Given the description of an element on the screen output the (x, y) to click on. 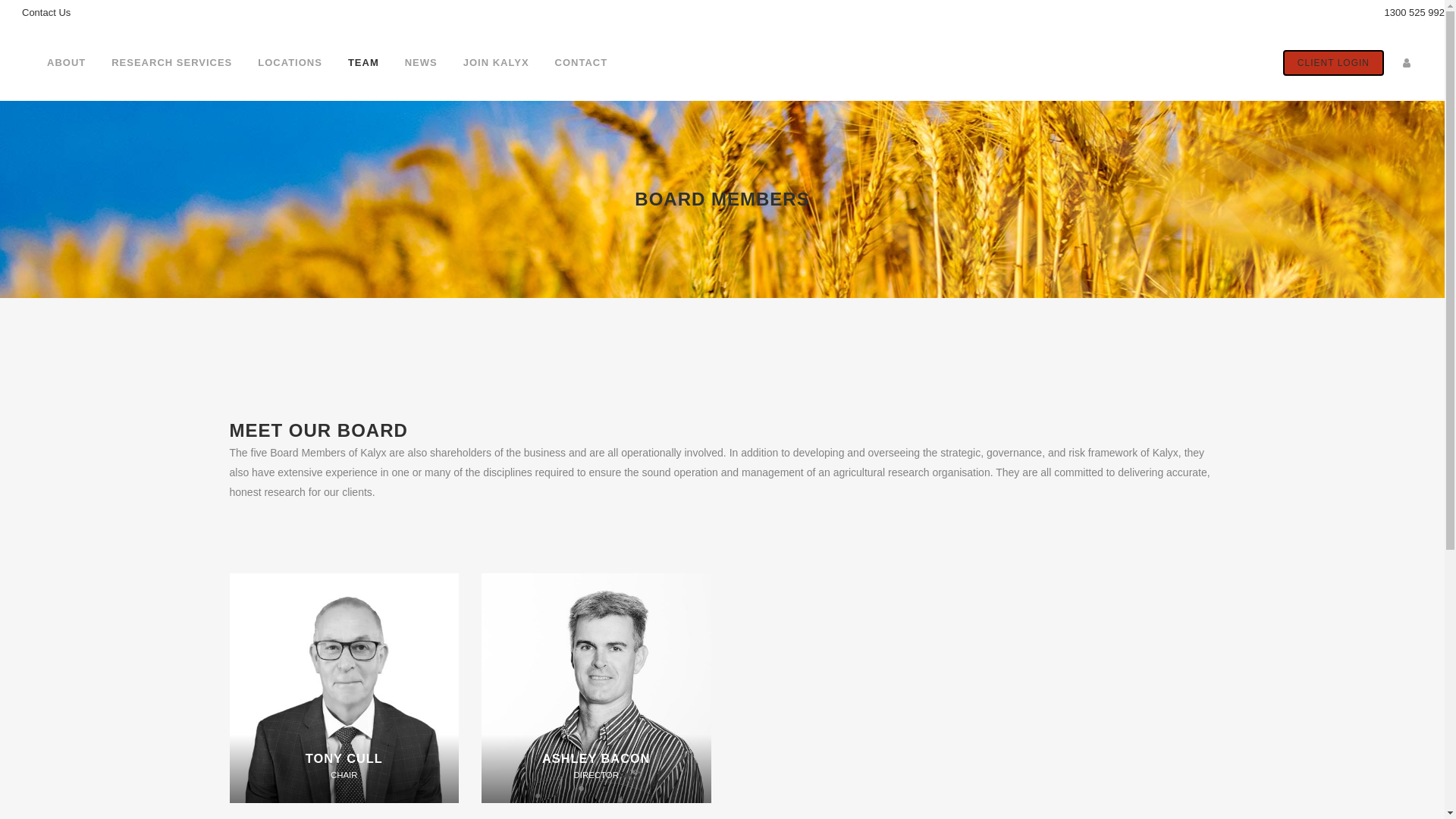
JOIN KALYX Element type: text (496, 62)
NEWS Element type: text (421, 62)
RESEARCH SERVICES Element type: text (171, 62)
ABOUT Element type: text (66, 62)
1300 525 992 Element type: text (1413, 12)
TEAM Element type: text (363, 62)
CONTACT Element type: text (581, 62)
Contact Us Element type: text (45, 12)
CLIENT LOGIN Element type: text (1333, 62)
LOCATIONS Element type: text (289, 62)
